Given the description of an element on the screen output the (x, y) to click on. 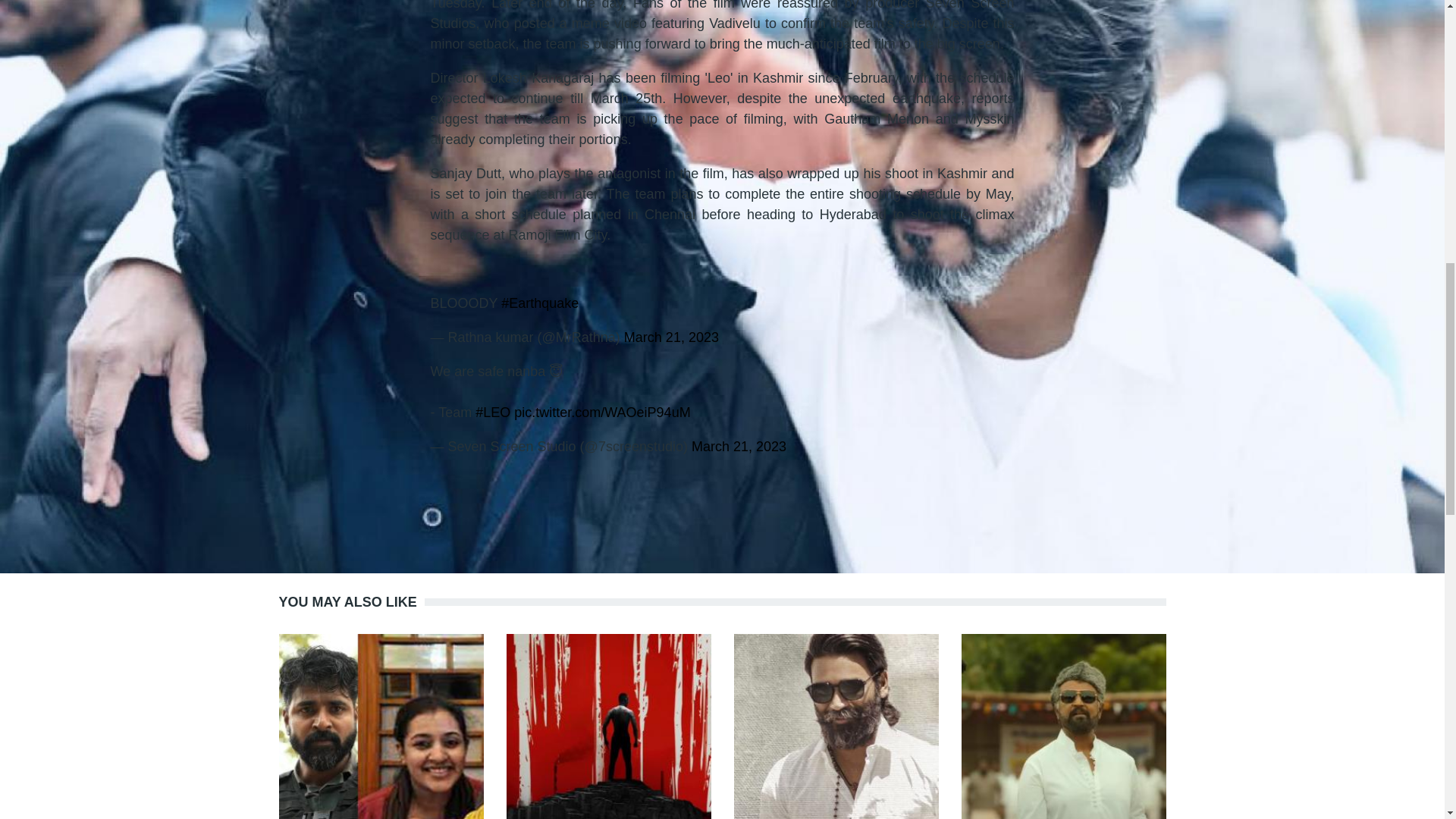
March 21, 2023 (671, 337)
March 21, 2023 (738, 446)
